Given the description of an element on the screen output the (x, y) to click on. 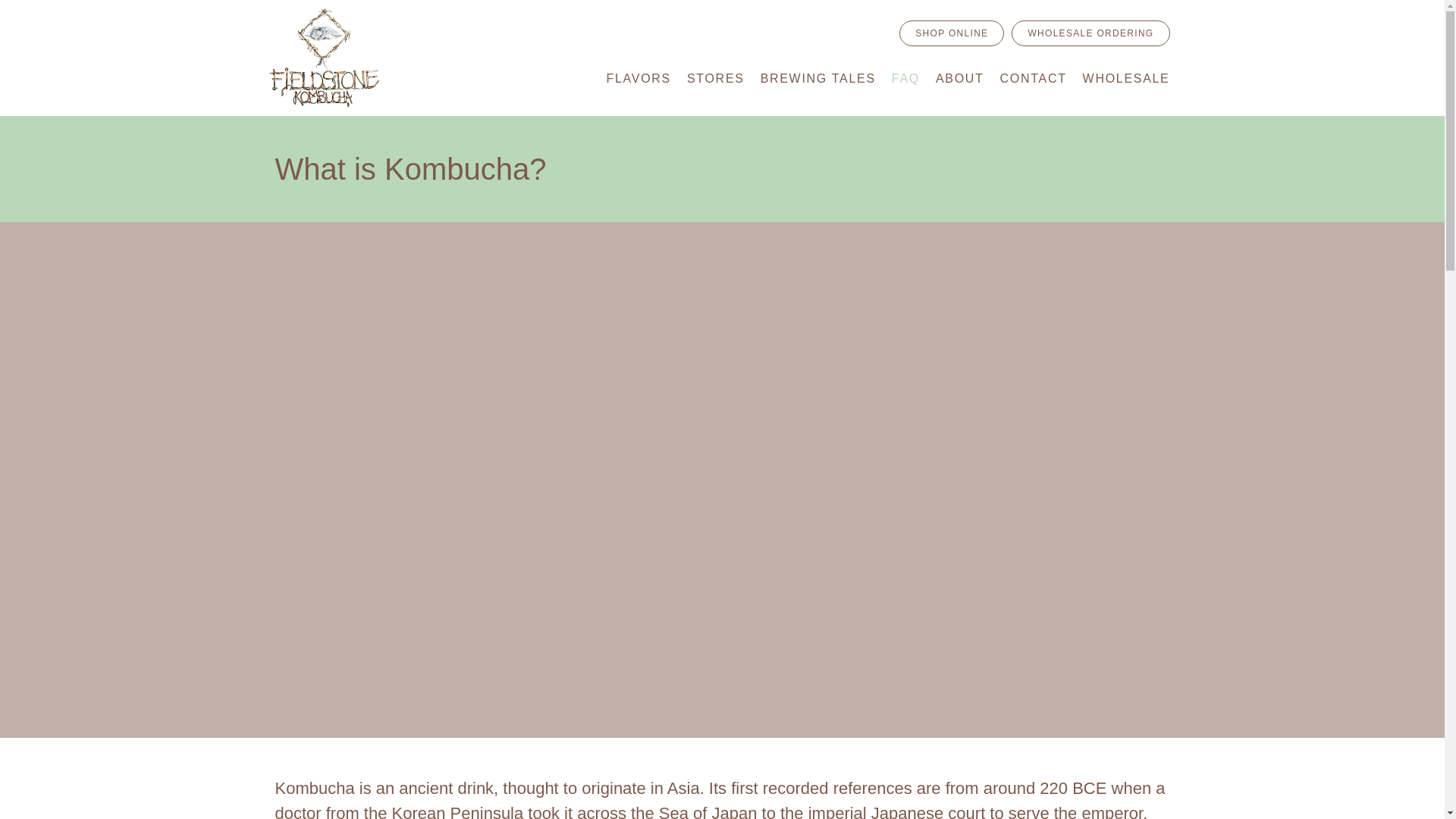
BREWING TALES (818, 78)
WHOLESALE (1126, 78)
WHOLESALE ORDERING (1090, 32)
FLAVORS (639, 78)
ABOUT (960, 78)
SHOP ONLINE (951, 32)
STORES (715, 78)
CONTACT (1033, 78)
